Given the description of an element on the screen output the (x, y) to click on. 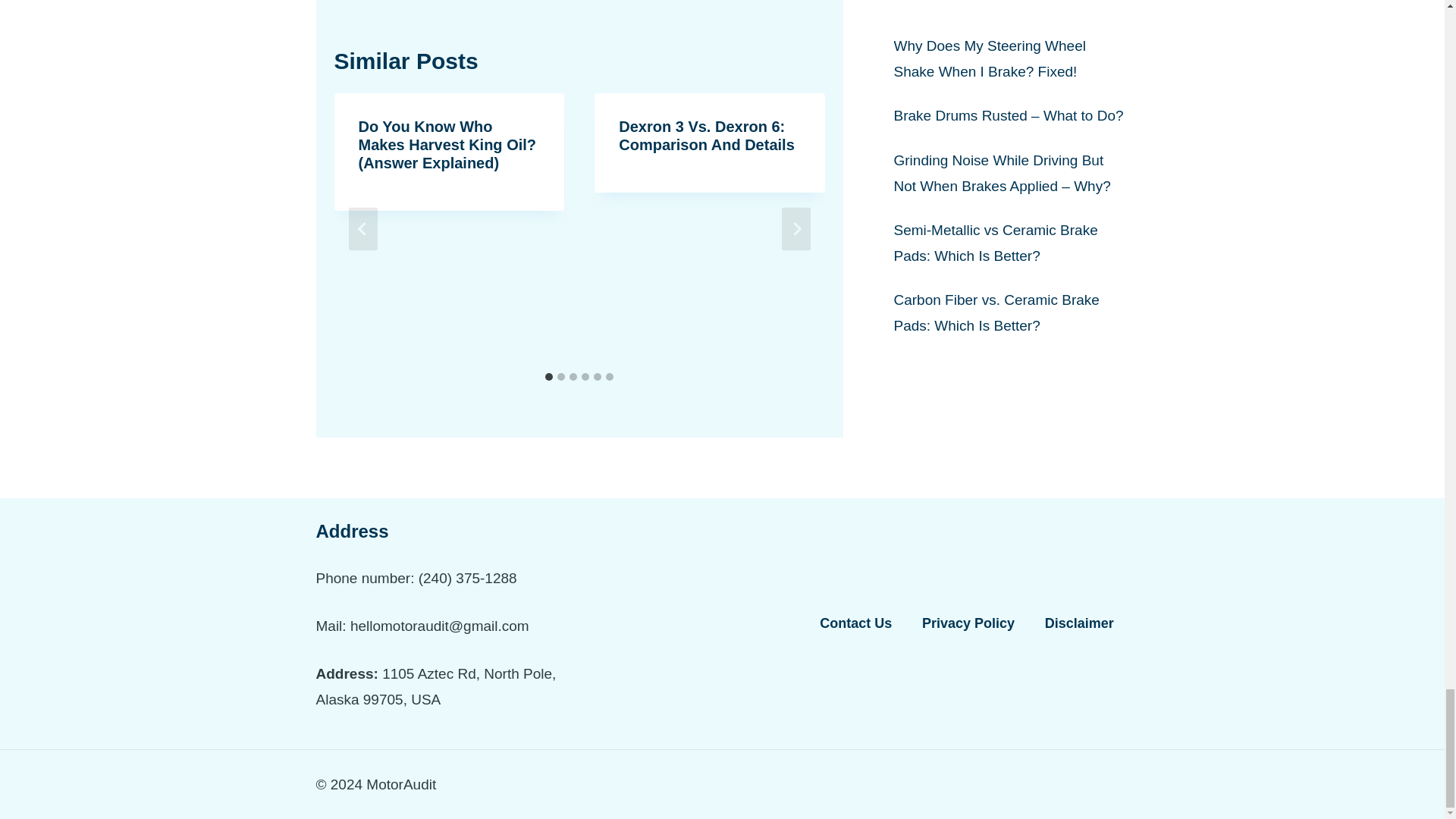
Dexron 3 Vs. Dexron 6: Comparison And Details (706, 135)
